Given the description of an element on the screen output the (x, y) to click on. 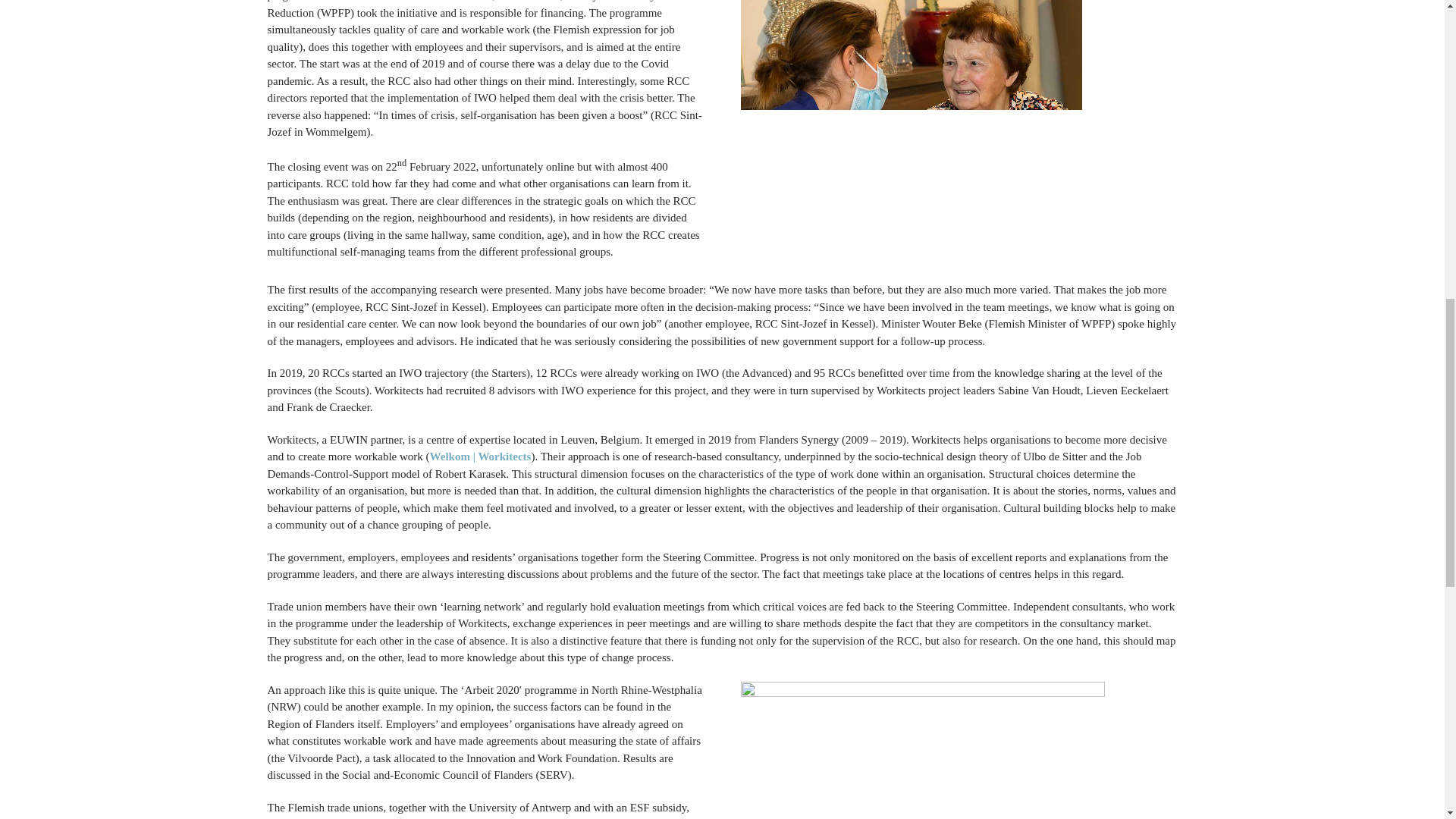
Residential Care Centres (910, 133)
Residential Care Centres 2 (921, 750)
